Given the description of an element on the screen output the (x, y) to click on. 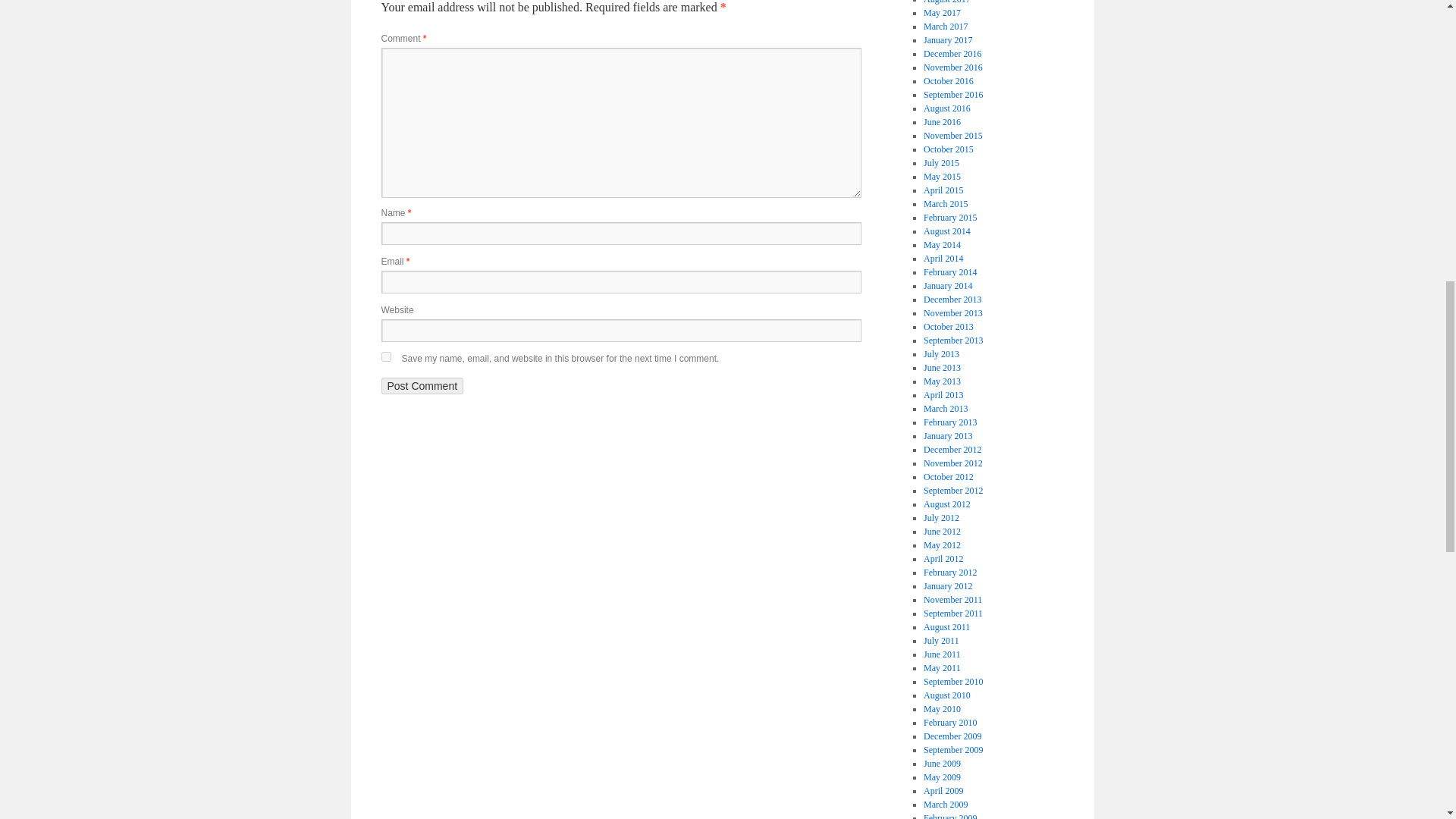
Post Comment (421, 385)
yes (385, 356)
May 2017 (941, 12)
Post Comment (421, 385)
August 2017 (947, 2)
